Given the description of an element on the screen output the (x, y) to click on. 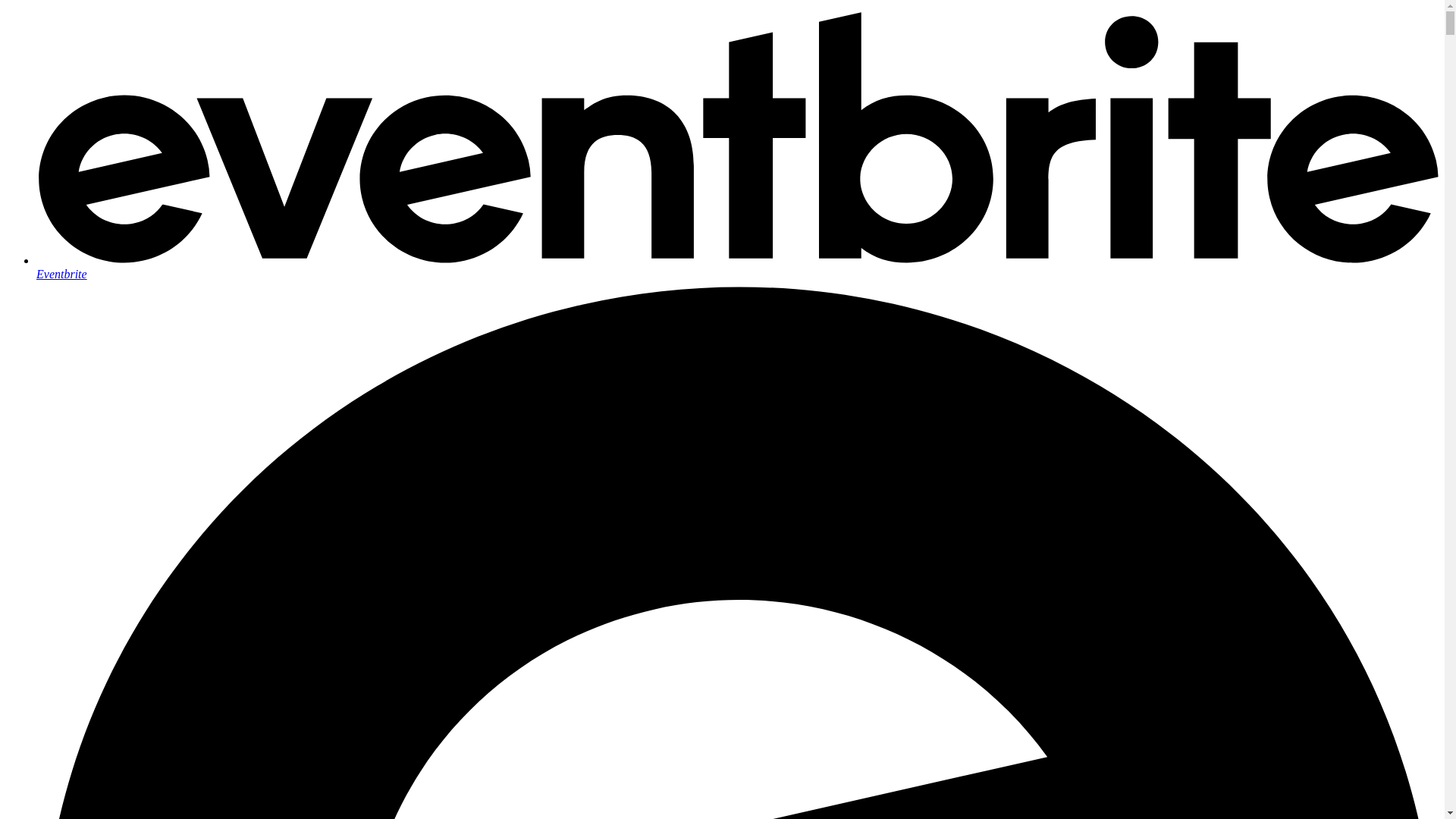
Eventbrite Element type: text (737, 267)
